Given the description of an element on the screen output the (x, y) to click on. 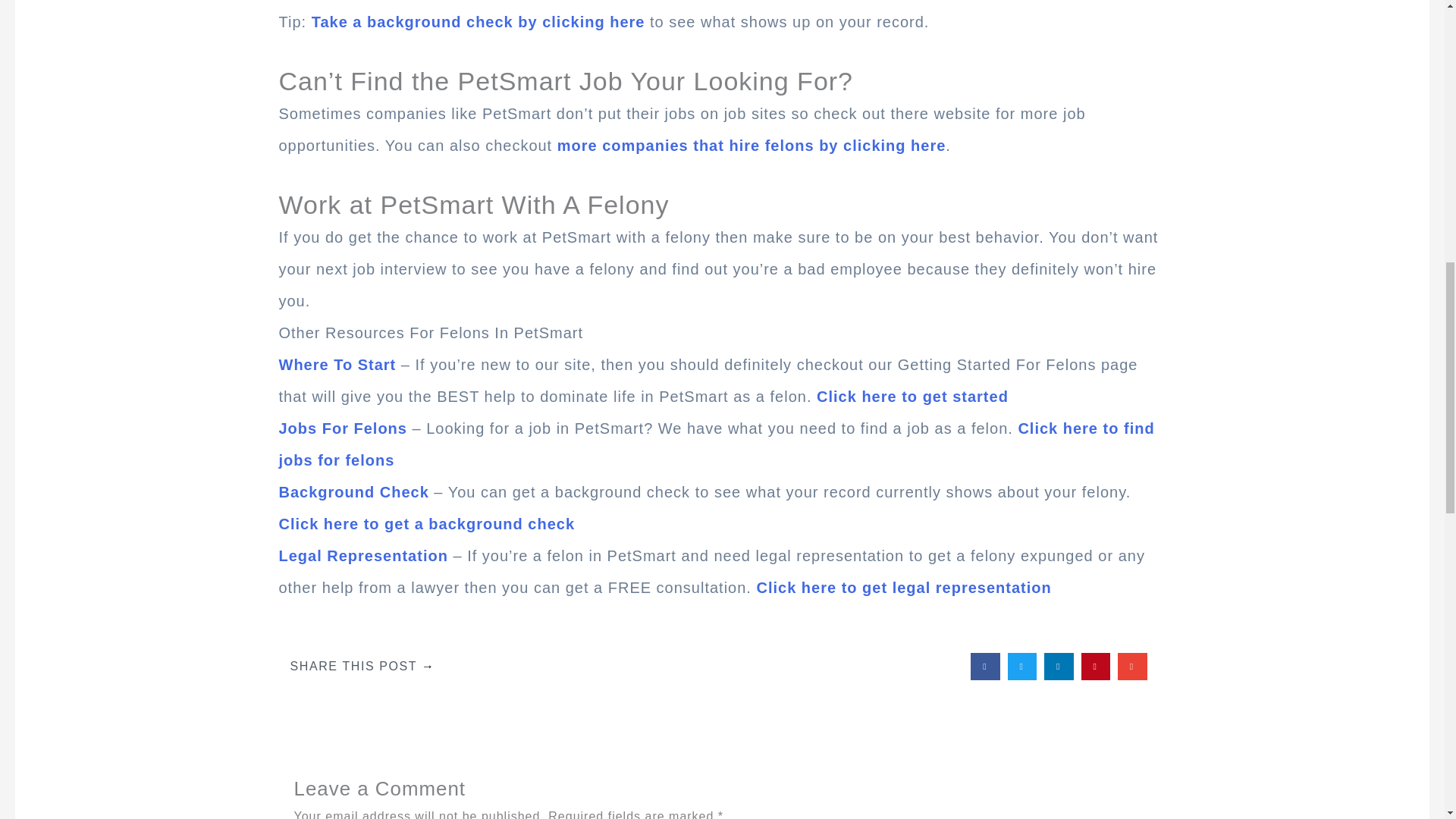
Legal Representation (363, 555)
Click here to get legal representation (903, 587)
Jobs For Felons (343, 428)
more companies that hire felons by clicking here (751, 145)
Click here to get a background check (427, 523)
Background Check (354, 492)
Click here to find jobs for felons (716, 444)
Take a background check by clicking here (478, 21)
Where To Start (337, 364)
Click here to get started (912, 396)
